Given the description of an element on the screen output the (x, y) to click on. 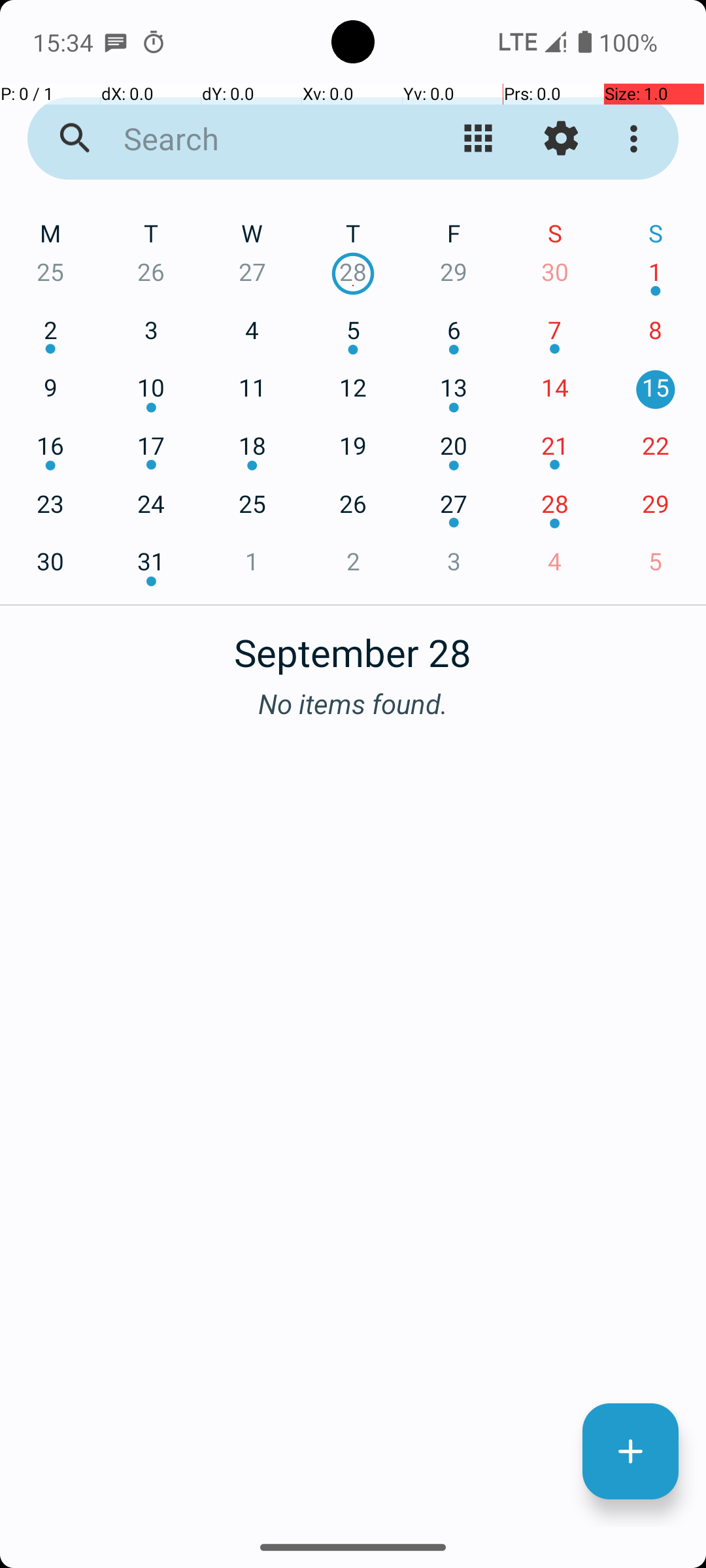
September 28 Element type: android.widget.TextView (352, 644)
SMS Messenger notification: +15785288010 Element type: android.widget.ImageView (115, 41)
